Given the description of an element on the screen output the (x, y) to click on. 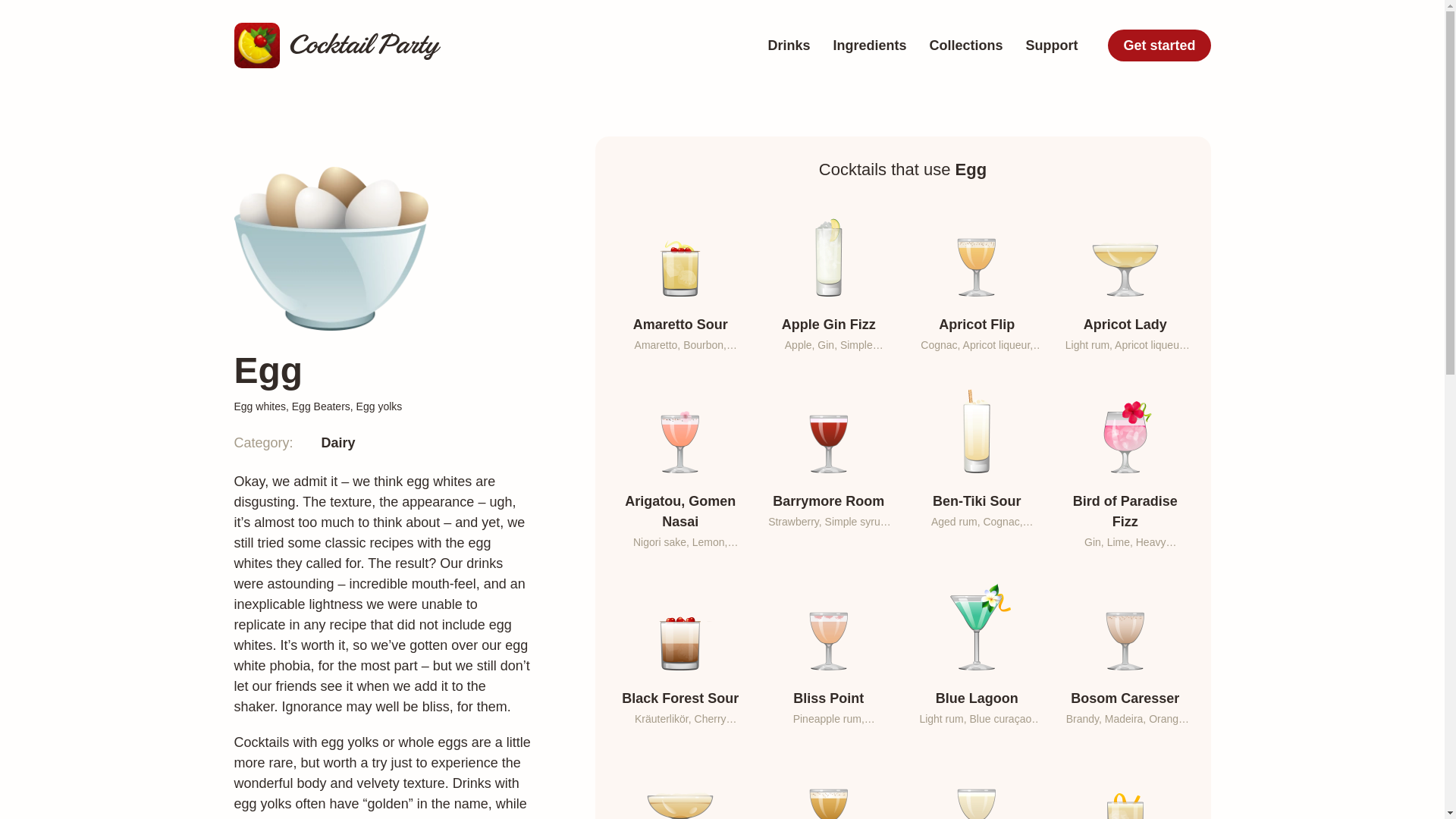
Get started (1158, 45)
Drinks (788, 45)
Dairy (679, 784)
Support (977, 784)
Collections (338, 442)
Ingredients (828, 784)
